Given the description of an element on the screen output the (x, y) to click on. 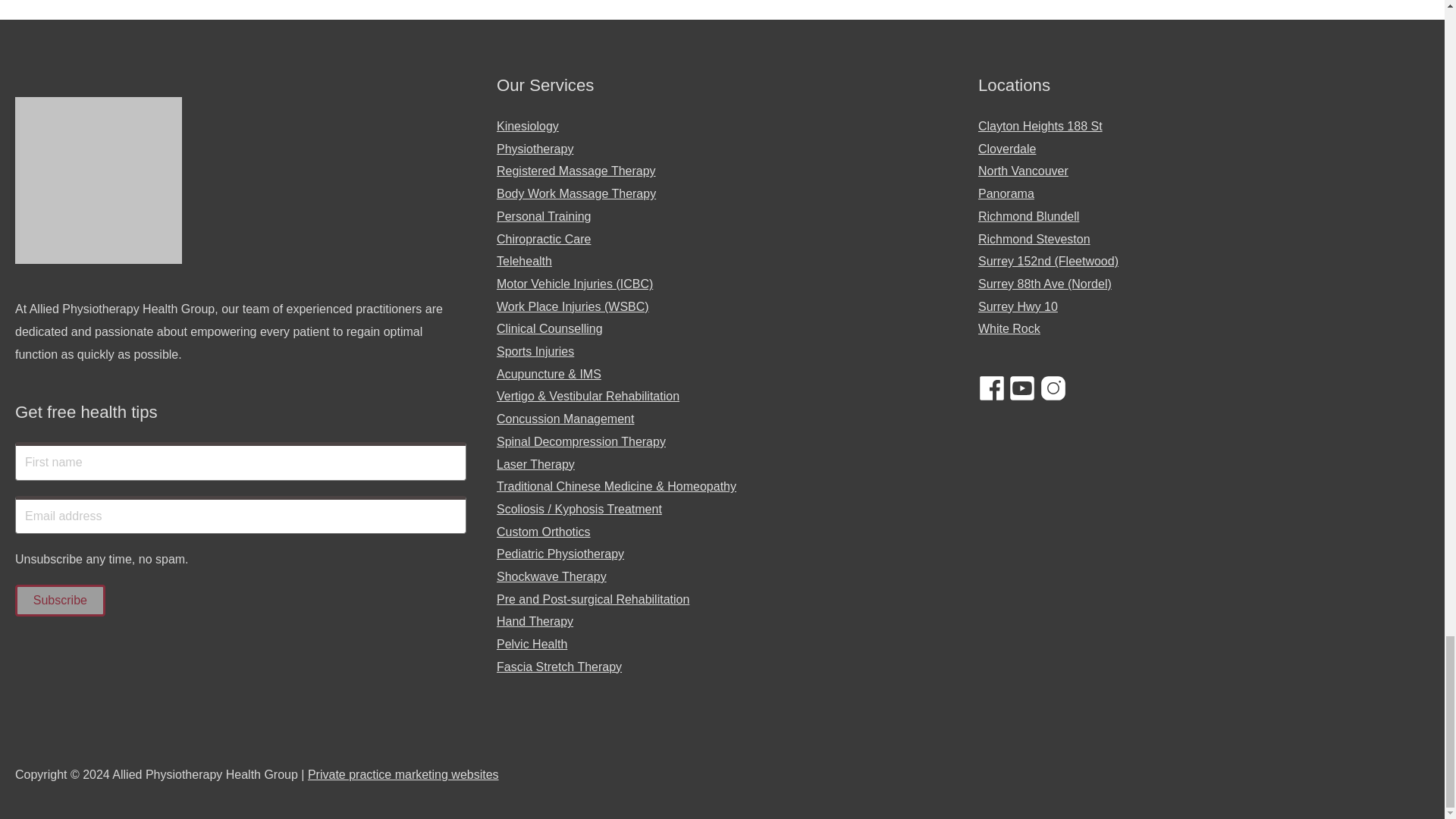
Chiropractic Care (543, 238)
Body Work Massage Therapy (576, 193)
Concussion Management (564, 418)
Spinal Decompression Therapy (580, 440)
Personal Training (543, 215)
Physiotherapy (534, 148)
Subscribe (59, 599)
Telehealth (523, 260)
Facebook (992, 388)
Sports Injuries (534, 350)
Clinical Counselling (549, 328)
Instagram (1053, 388)
Kinesiology (527, 125)
YouTube (1022, 388)
Registered Massage Therapy (576, 170)
